Given the description of an element on the screen output the (x, y) to click on. 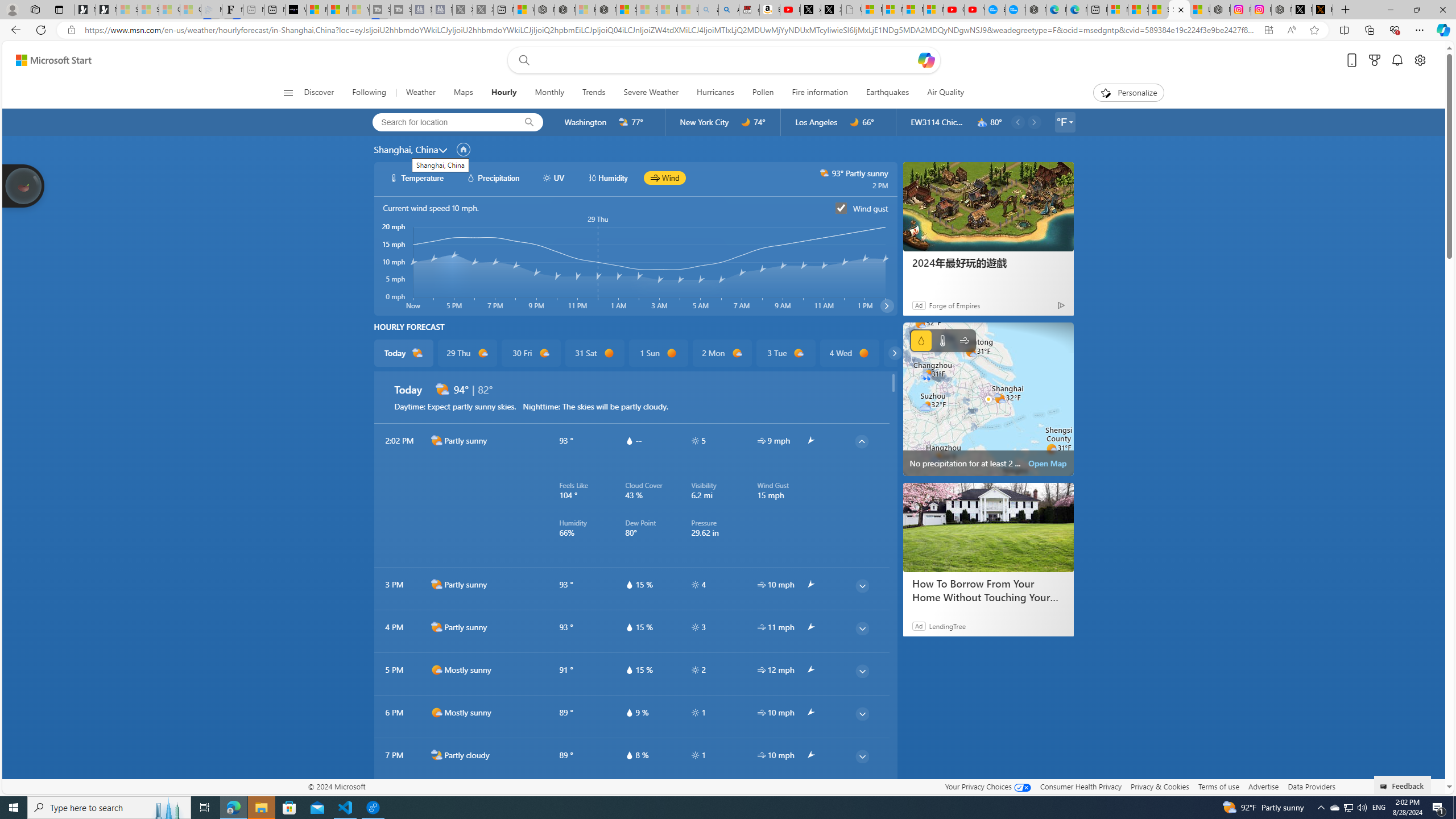
1 Sun d0000 (658, 352)
4 Wed d0000 (849, 352)
Hourly (503, 92)
Data Providers (1311, 786)
Terms of use (1218, 785)
Maps (462, 92)
Your Privacy Choices (987, 786)
Shanghai, China hourly forecast | Microsoft Weather (1178, 9)
Consumer Health Privacy (1080, 786)
